Given the description of an element on the screen output the (x, y) to click on. 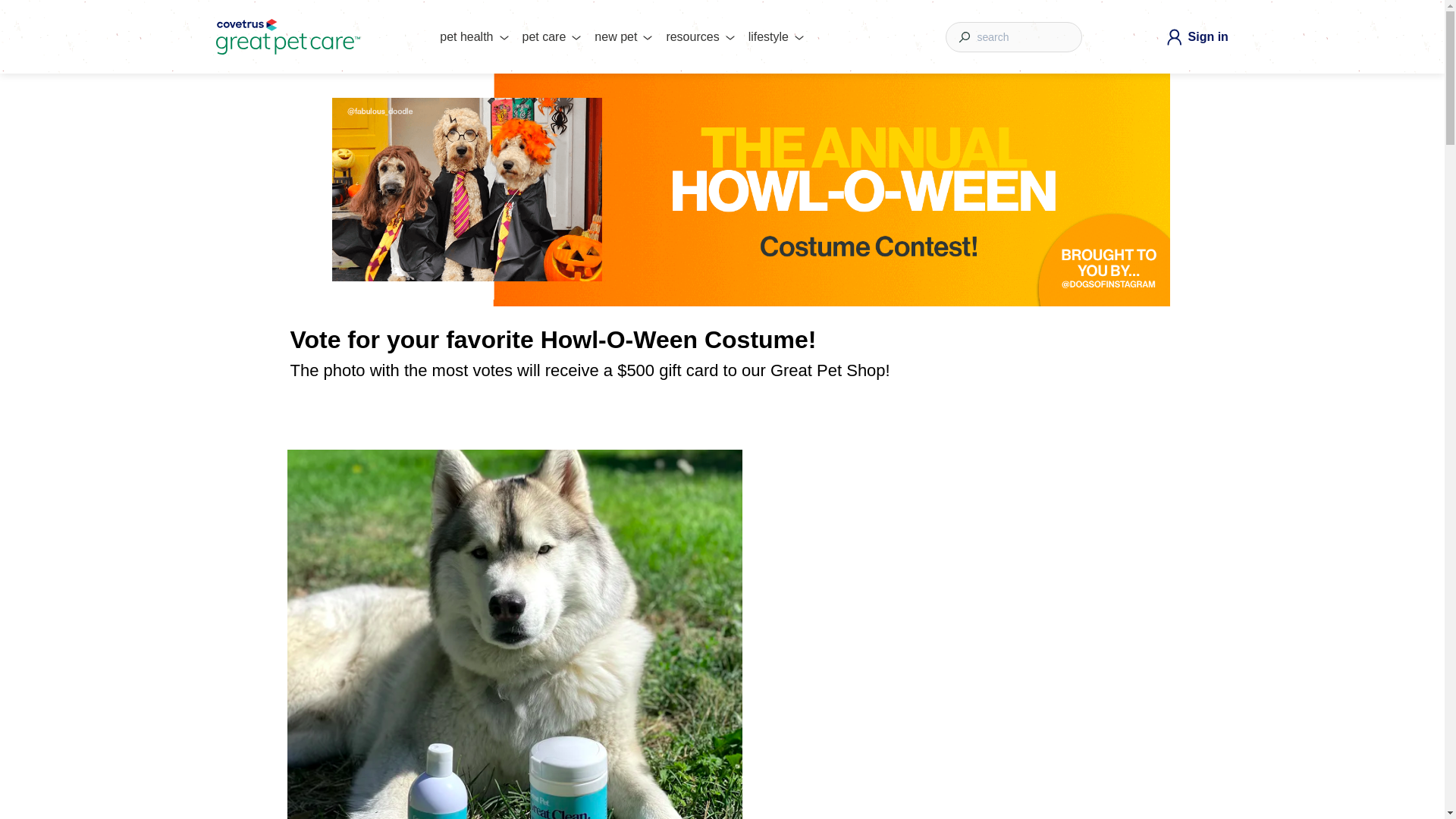
lifestyle (768, 39)
pet care (544, 39)
Great Pet Care Logo (287, 36)
new pet (615, 39)
pet health (466, 39)
resources (692, 39)
